Given the description of an element on the screen output the (x, y) to click on. 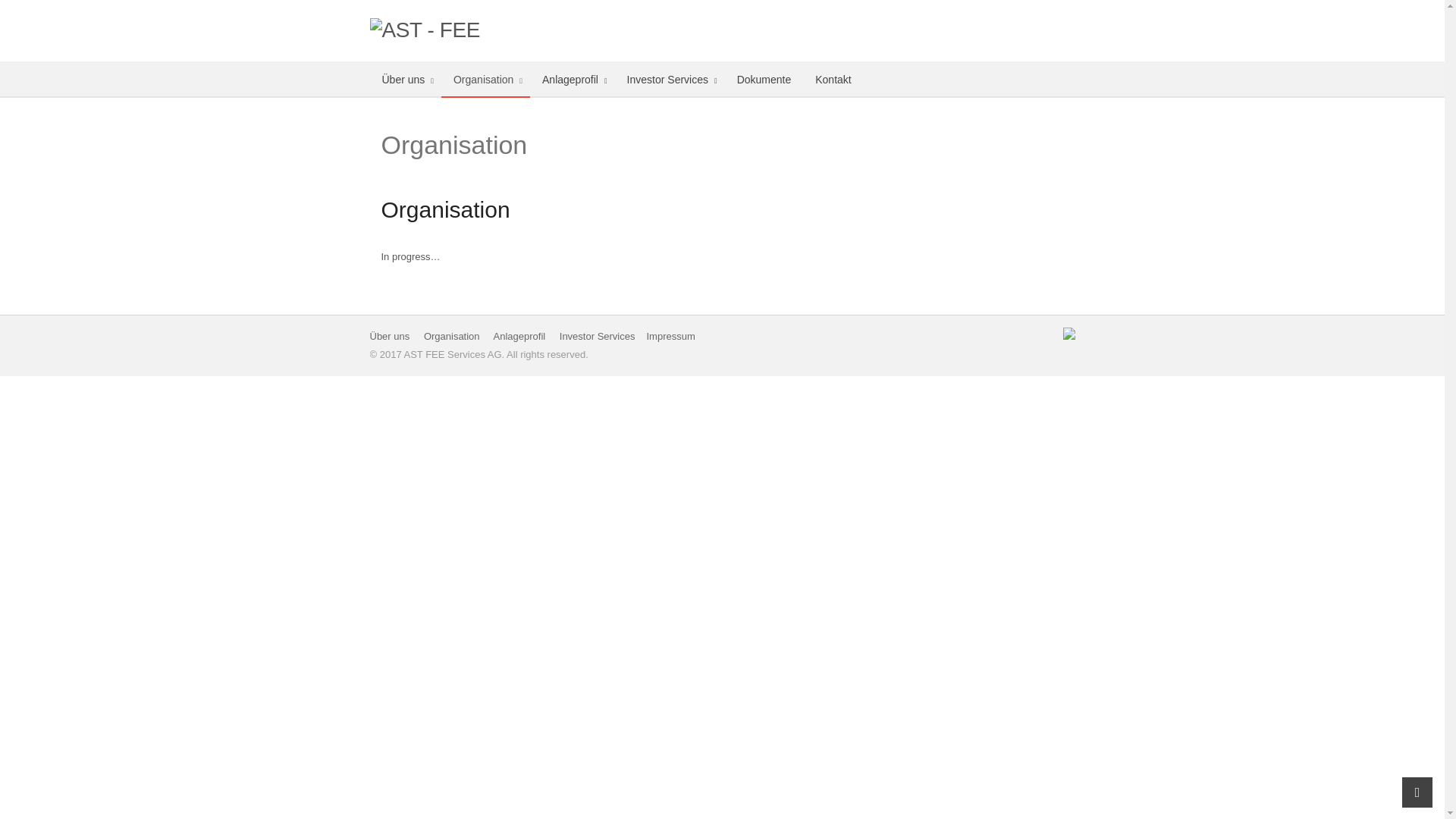
Dokumente Element type: text (763, 79)
Investor Services Element type: text (669, 79)
Kontakt Element type: text (832, 79)
Investor Services Element type: text (597, 336)
Anlageprofil Element type: text (572, 79)
Impressum Element type: text (670, 336)
scroll to top Element type: text (1417, 792)
Anlageprofil Element type: text (518, 336)
AST - FEE Element type: hover (453, 30)
Organisation Element type: text (485, 79)
Organisation Element type: text (451, 336)
